Given the description of an element on the screen output the (x, y) to click on. 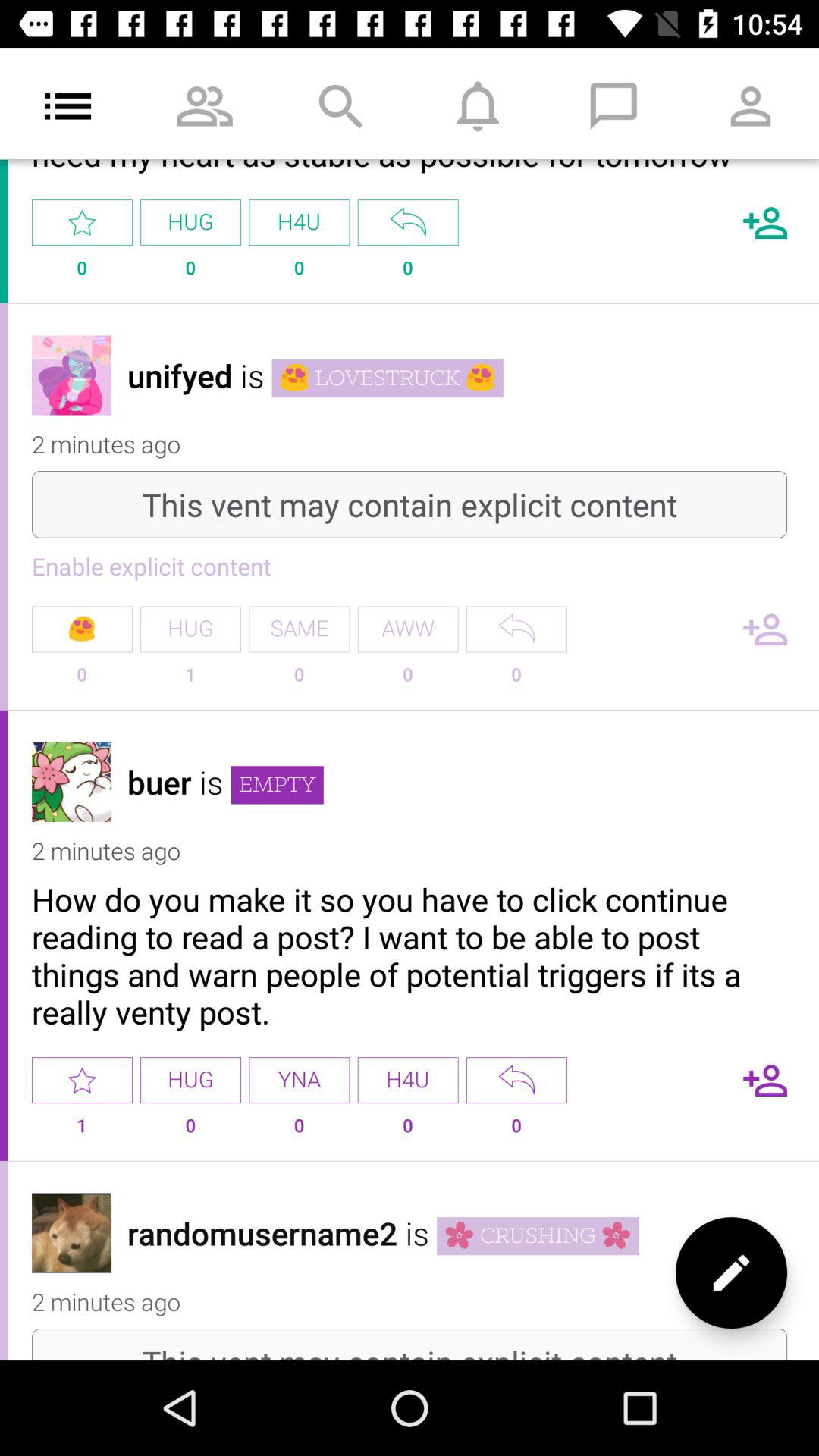
tap the item below the 2 minutes ago item (409, 955)
